Given the description of an element on the screen output the (x, y) to click on. 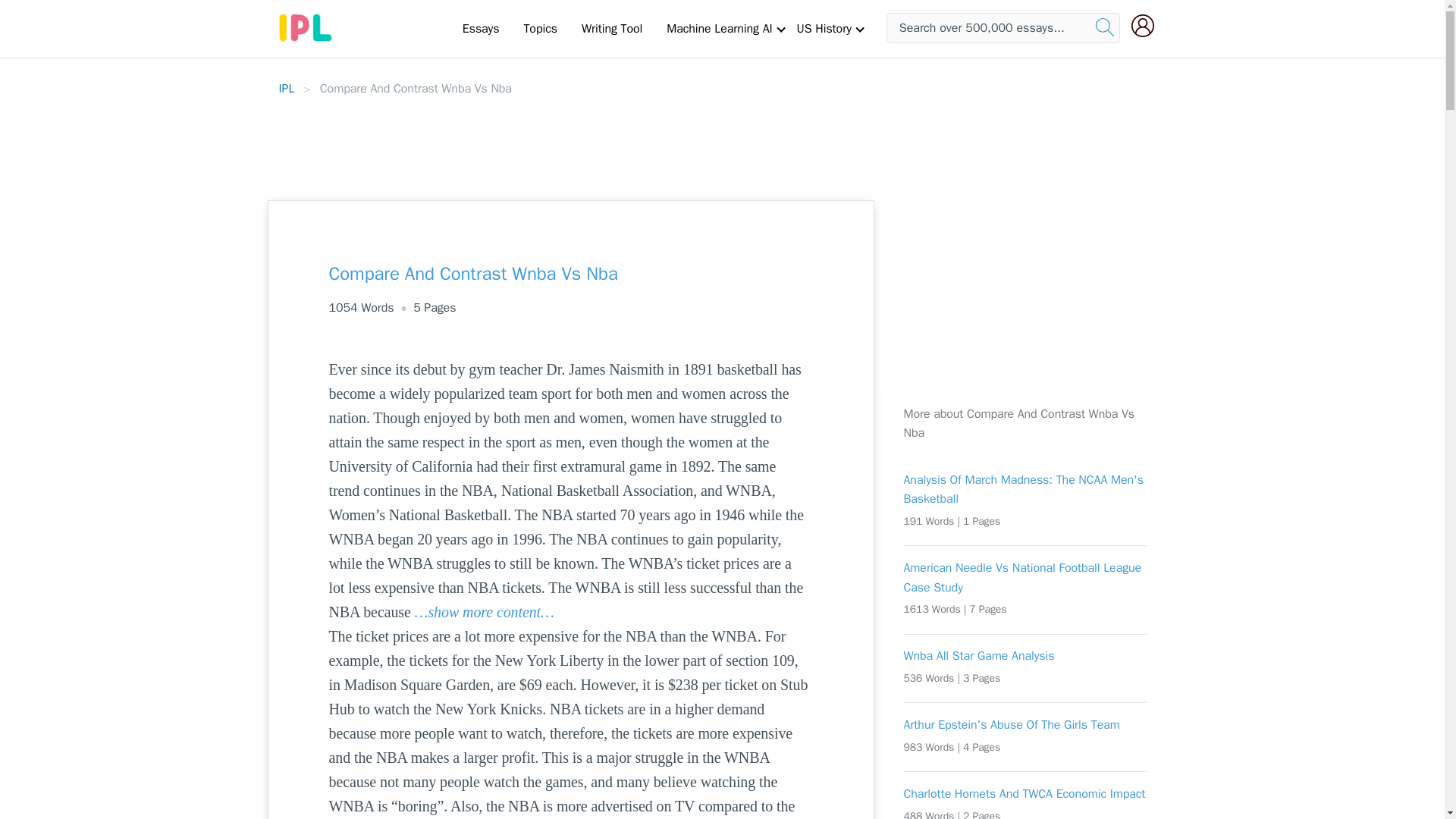
Essays (480, 28)
Topics (540, 28)
IPL (287, 88)
US History (823, 28)
Writing Tool (611, 28)
Machine Learning AI (718, 28)
